Given the description of an element on the screen output the (x, y) to click on. 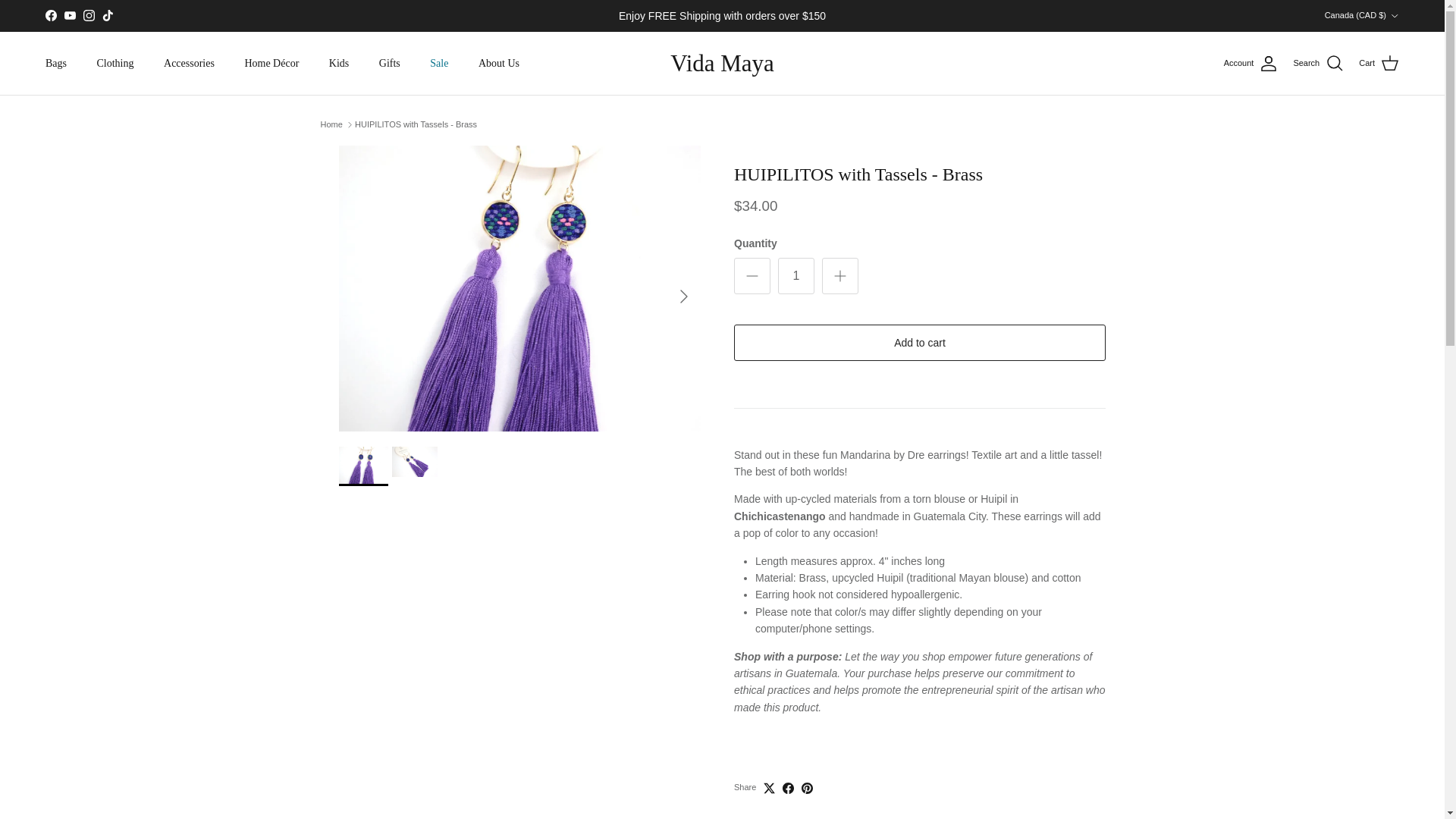
TikTok (107, 15)
Vida Maya  (721, 62)
Vida Maya  on Instagram (88, 15)
YouTube (69, 15)
Share on Facebook (788, 787)
Bags (56, 62)
Vida Maya  on TikTok (107, 15)
Gifts (389, 62)
Kids (338, 62)
1 (795, 275)
